Given the description of an element on the screen output the (x, y) to click on. 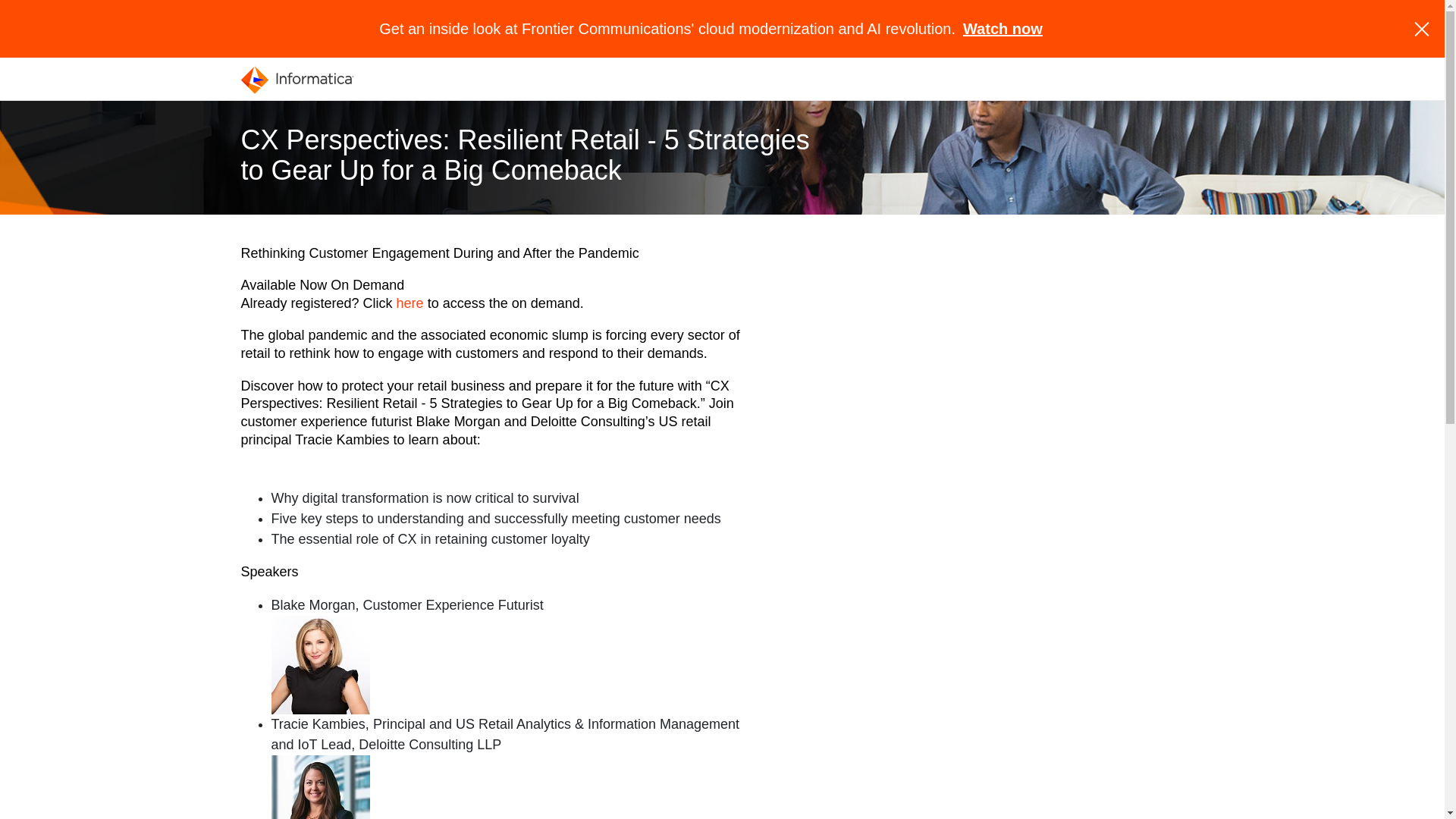
Watch now (1002, 28)
here (409, 303)
